Given the description of an element on the screen output the (x, y) to click on. 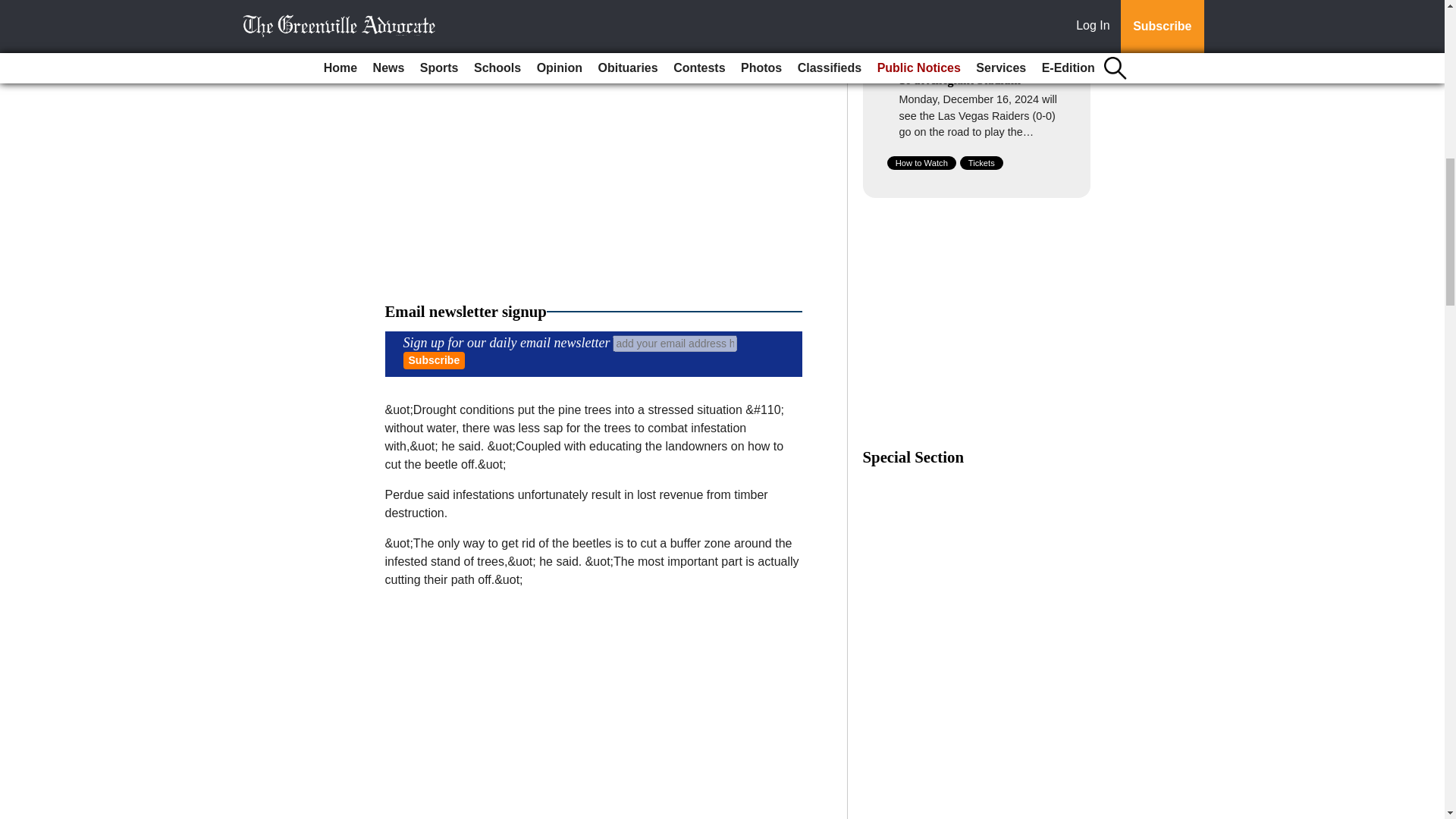
Subscribe (434, 360)
Subscribe (434, 360)
